Given the description of an element on the screen output the (x, y) to click on. 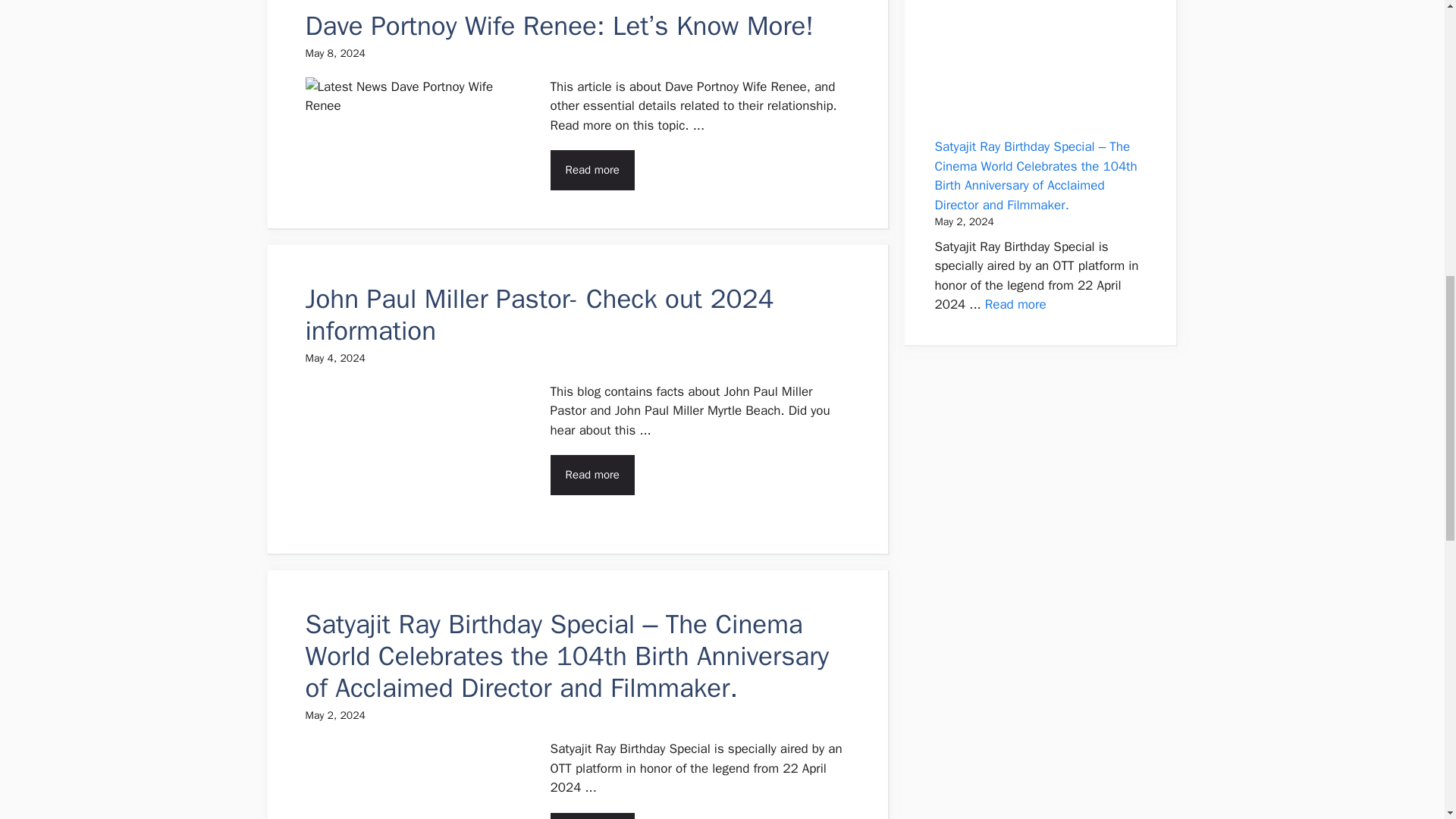
Read more (592, 816)
John Paul Miller Pastor- Check out 2024 information (538, 314)
Read more (592, 475)
Read more (592, 169)
Read more (1015, 304)
